Given the description of an element on the screen output the (x, y) to click on. 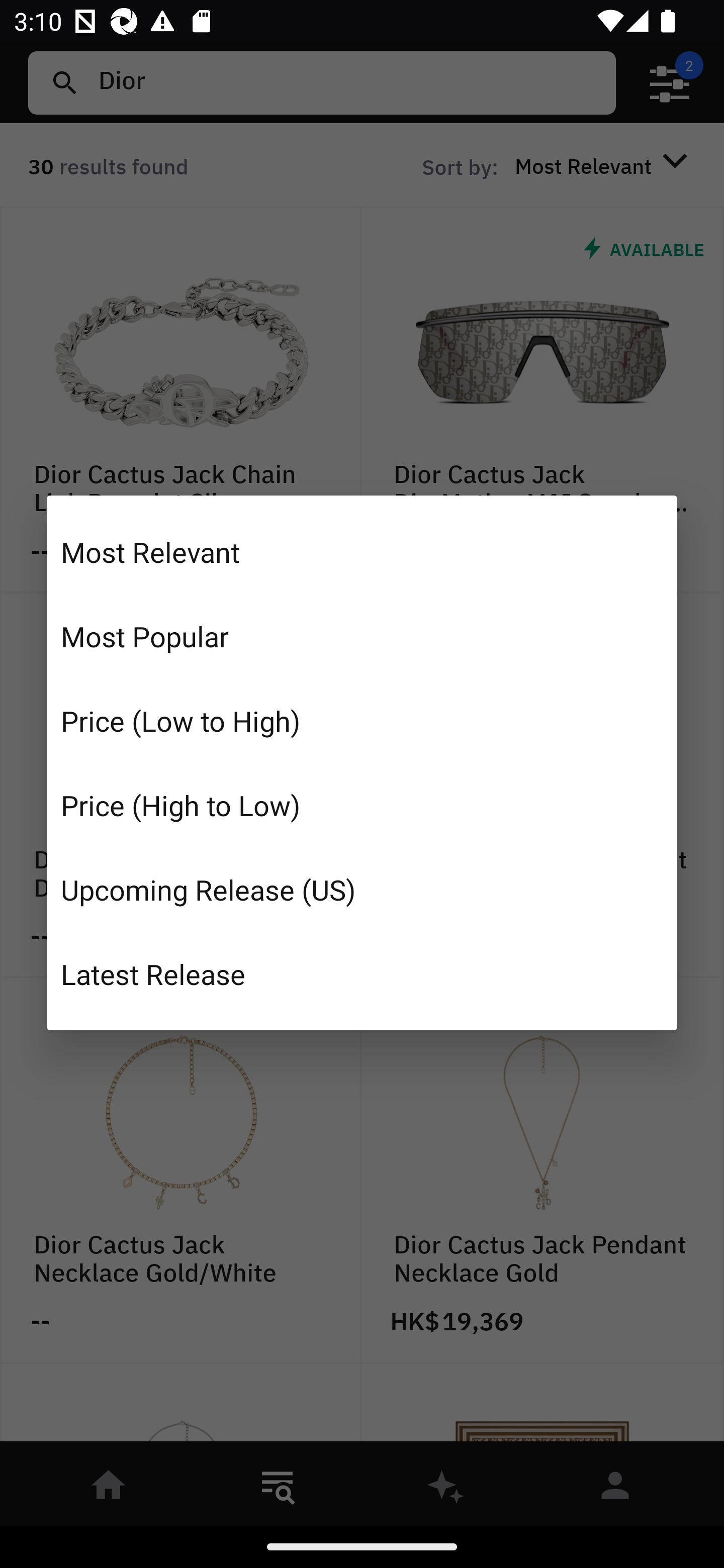
Most Relevant (361, 551)
Most Popular (361, 636)
Price (Low to High) (361, 720)
Price (High to Low) (361, 804)
Upcoming Release (US) (361, 888)
Latest Release (361, 973)
